Given the description of an element on the screen output the (x, y) to click on. 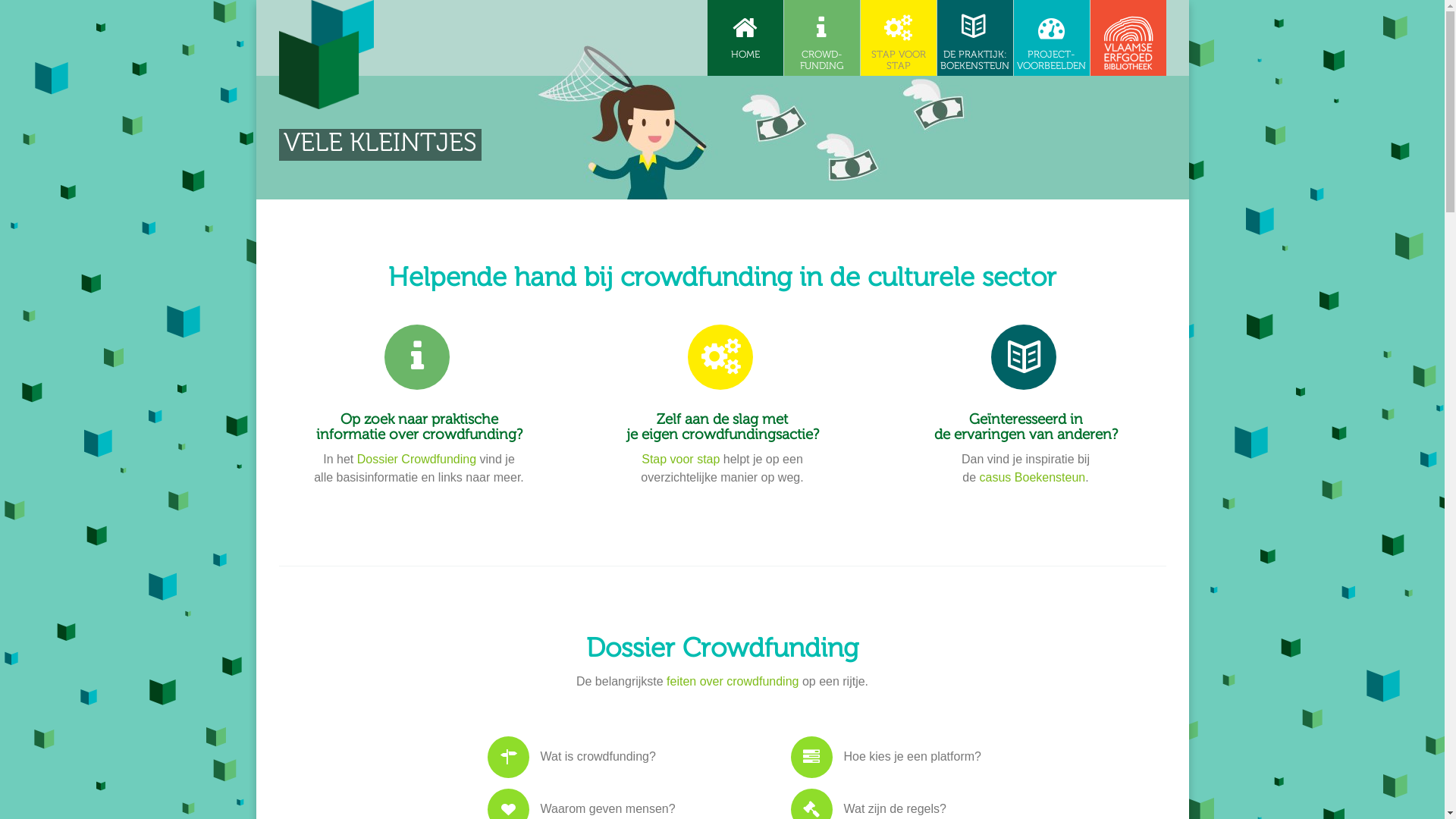
Stap voor stap Element type: text (680, 458)
Dossier Crowdfunding Element type: hover (1025, 364)
Een publicatie van de Vlaamse Erfgoedbibliotheek Element type: hover (1128, 37)
Hoe kies je een platform? Element type: text (930, 758)
Stap voor stap Element type: hover (721, 364)
HOME Element type: text (744, 37)
Dossier Crowdfunding Element type: hover (418, 364)
STAP VOOR STAP Element type: text (897, 37)
casus Boekensteun Element type: text (1032, 476)
DE PRAKTIJK: BOEKENSTEUN Element type: text (975, 37)
Wat is crowdfunding? Element type: text (626, 758)
Dossier Crowdfunding Element type: text (416, 458)
